Given the description of an element on the screen output the (x, y) to click on. 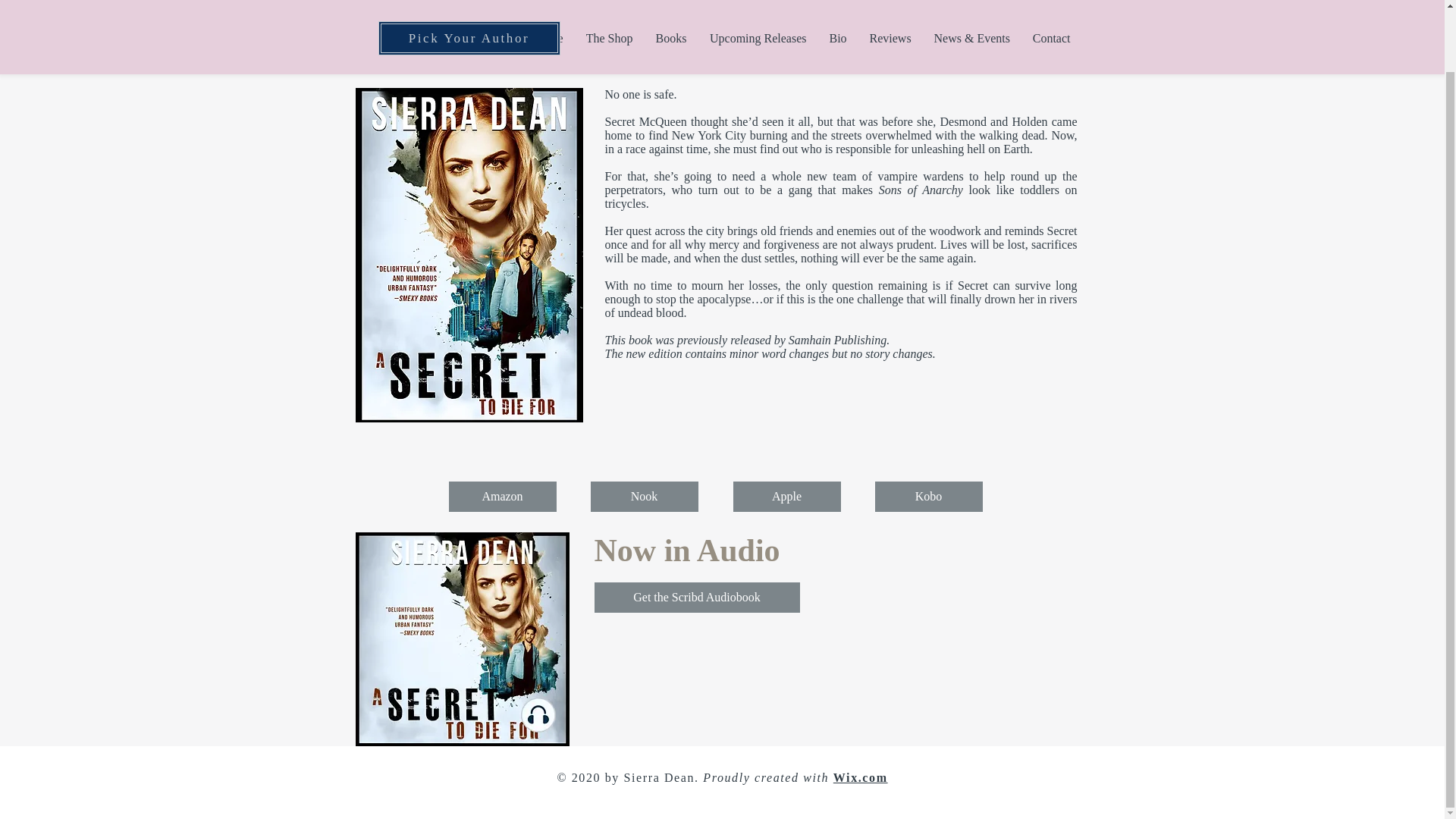
Wix.com (860, 777)
Amazon (502, 496)
1.png (462, 639)
Apple (786, 496)
Kobo (928, 496)
Get the Scribd Audiobook (696, 597)
Nook (643, 496)
